Given the description of an element on the screen output the (x, y) to click on. 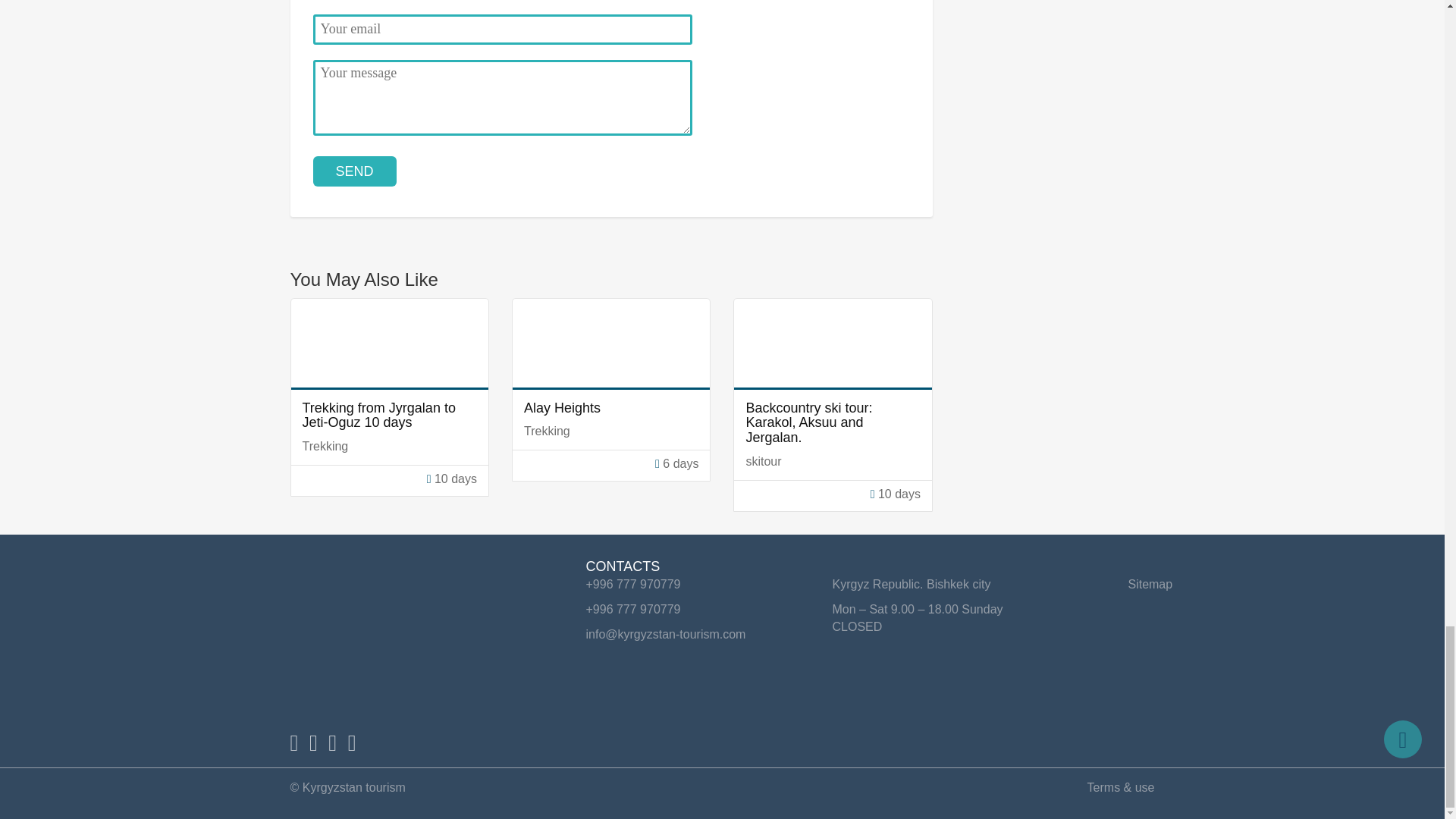
Send (354, 171)
